Given the description of an element on the screen output the (x, y) to click on. 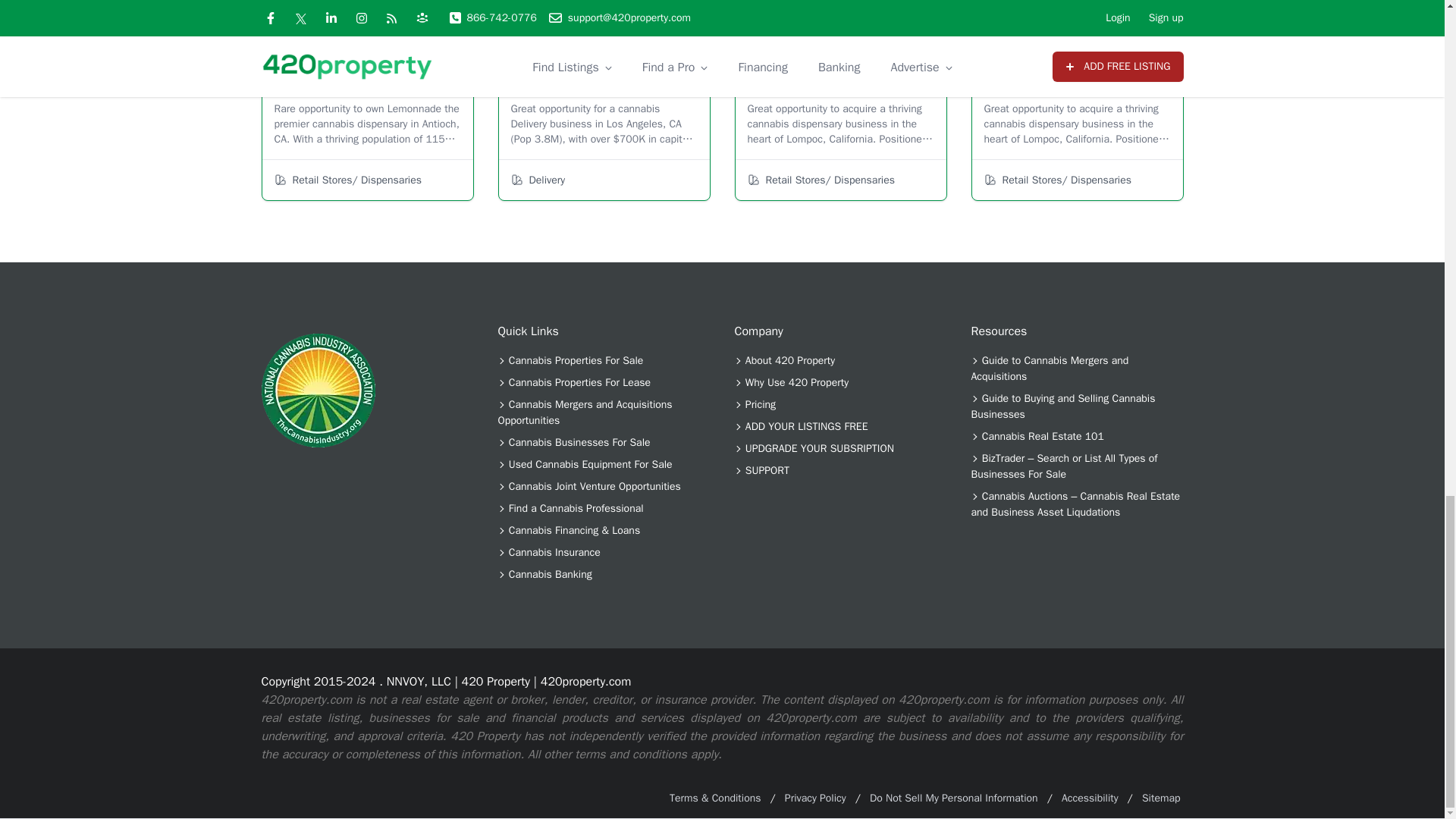
The Cannabis Industry (317, 390)
